Given the description of an element on the screen output the (x, y) to click on. 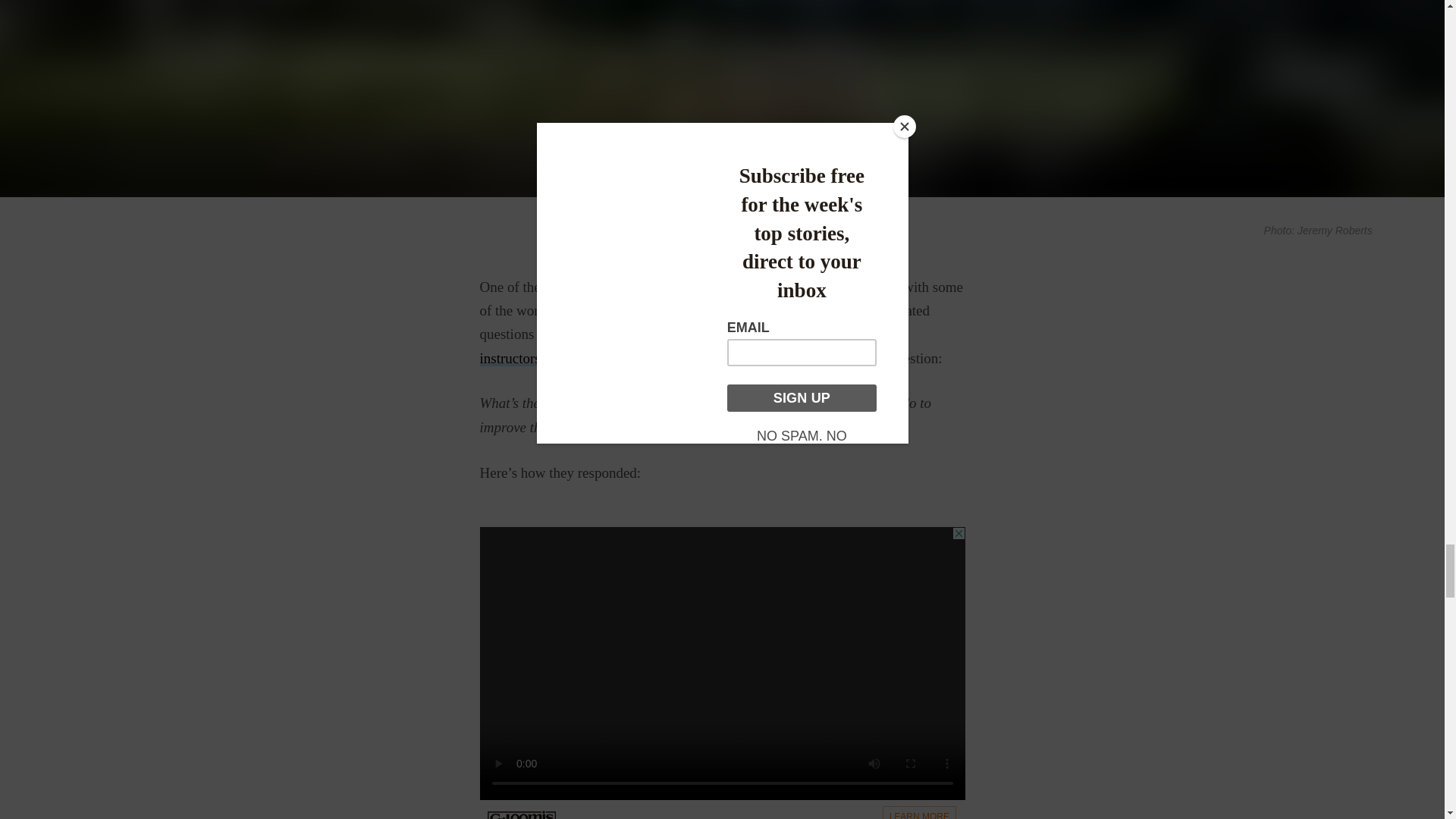
fly fishing school (849, 286)
School of Trout instructors (690, 345)
